Given the description of an element on the screen output the (x, y) to click on. 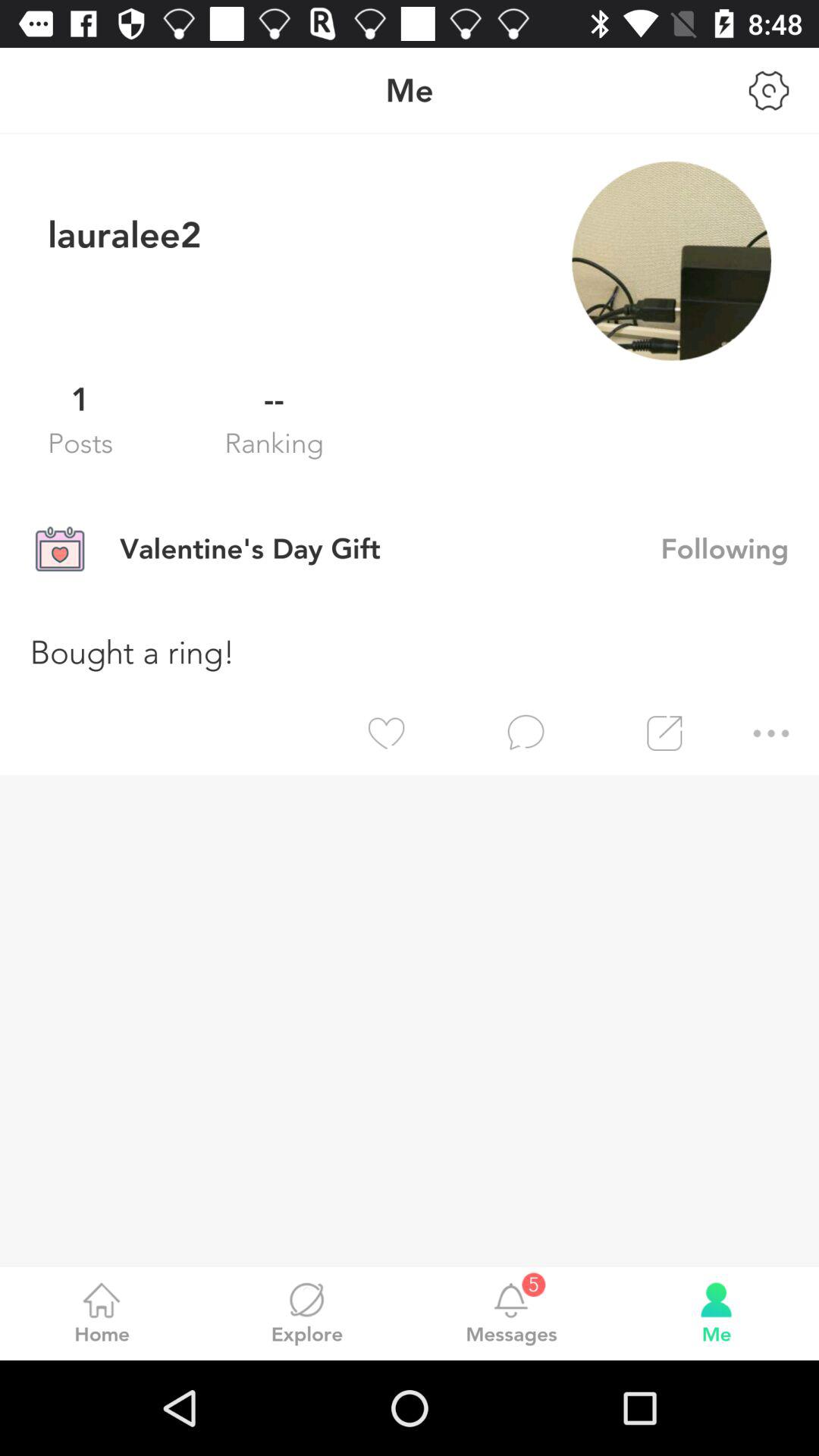
turn off the icon above following (671, 260)
